Given the description of an element on the screen output the (x, y) to click on. 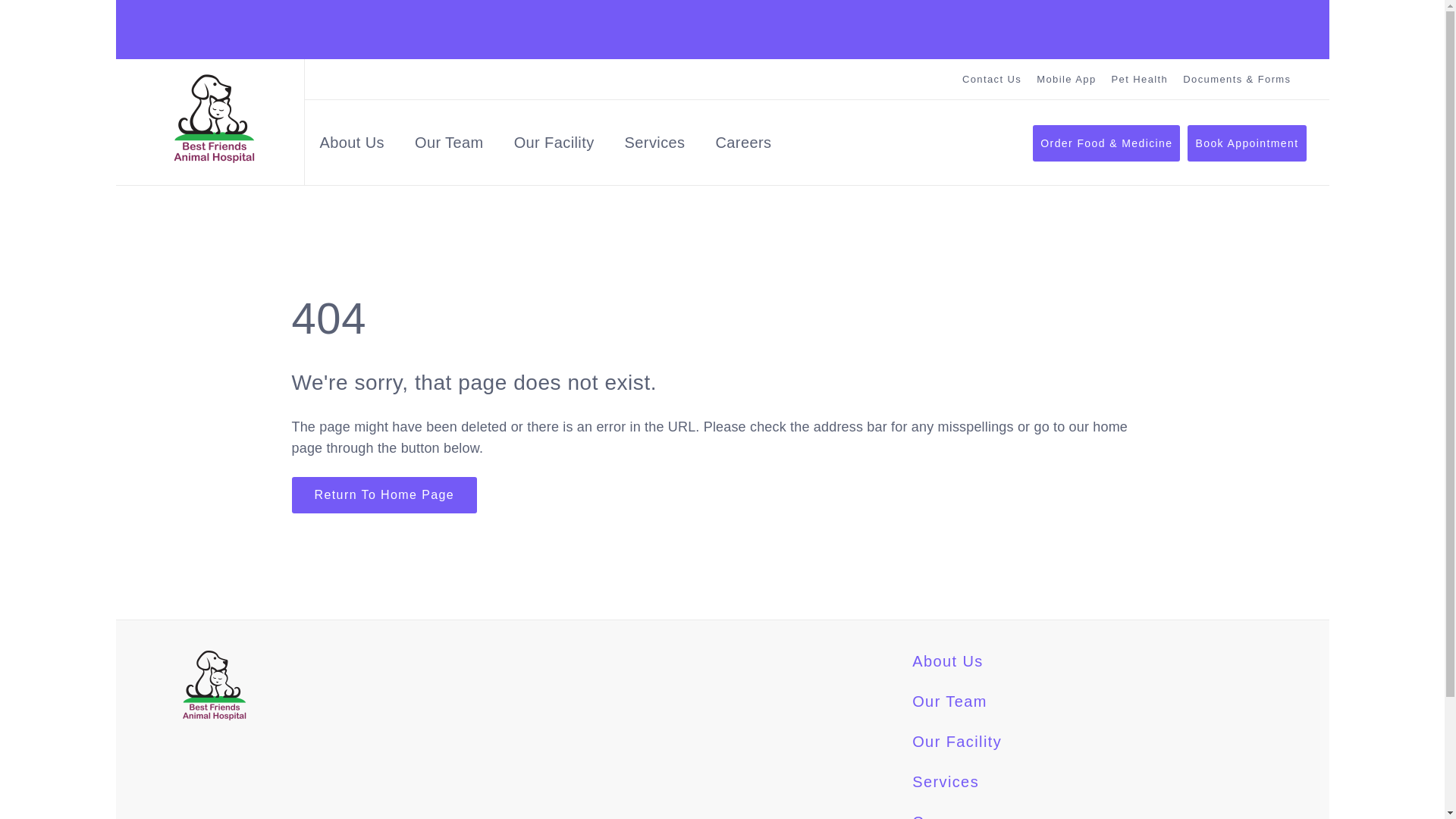
Careers	 (742, 145)
About Us (352, 145)
Contact Us (992, 78)
About Us (352, 145)
Logo (213, 118)
Pet Health (1140, 78)
Book Appointment (1247, 142)
Mobile App (1066, 78)
Our Team (448, 145)
Services (945, 781)
